Given the description of an element on the screen output the (x, y) to click on. 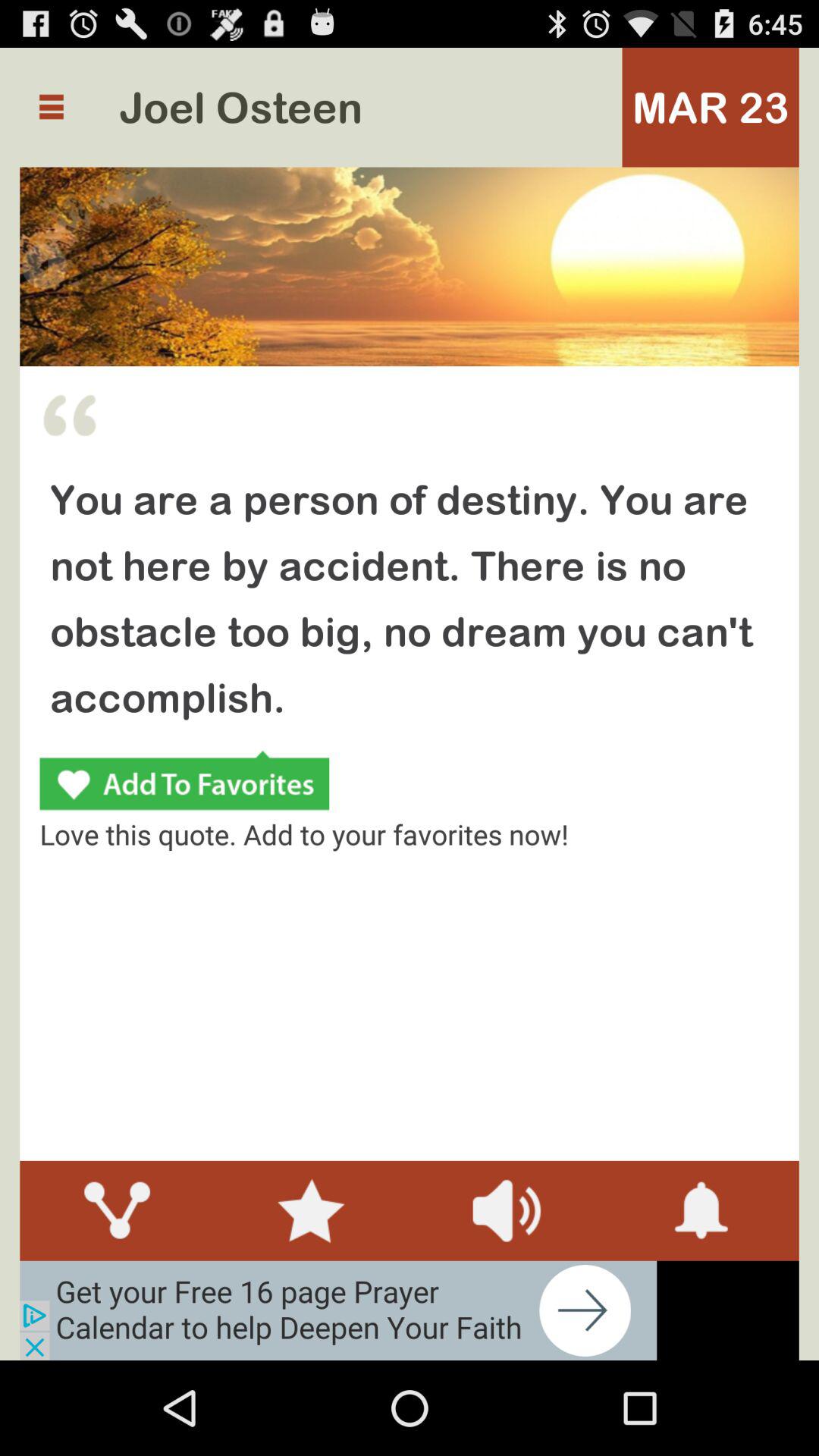
advertisement (337, 1310)
